Given the description of an element on the screen output the (x, y) to click on. 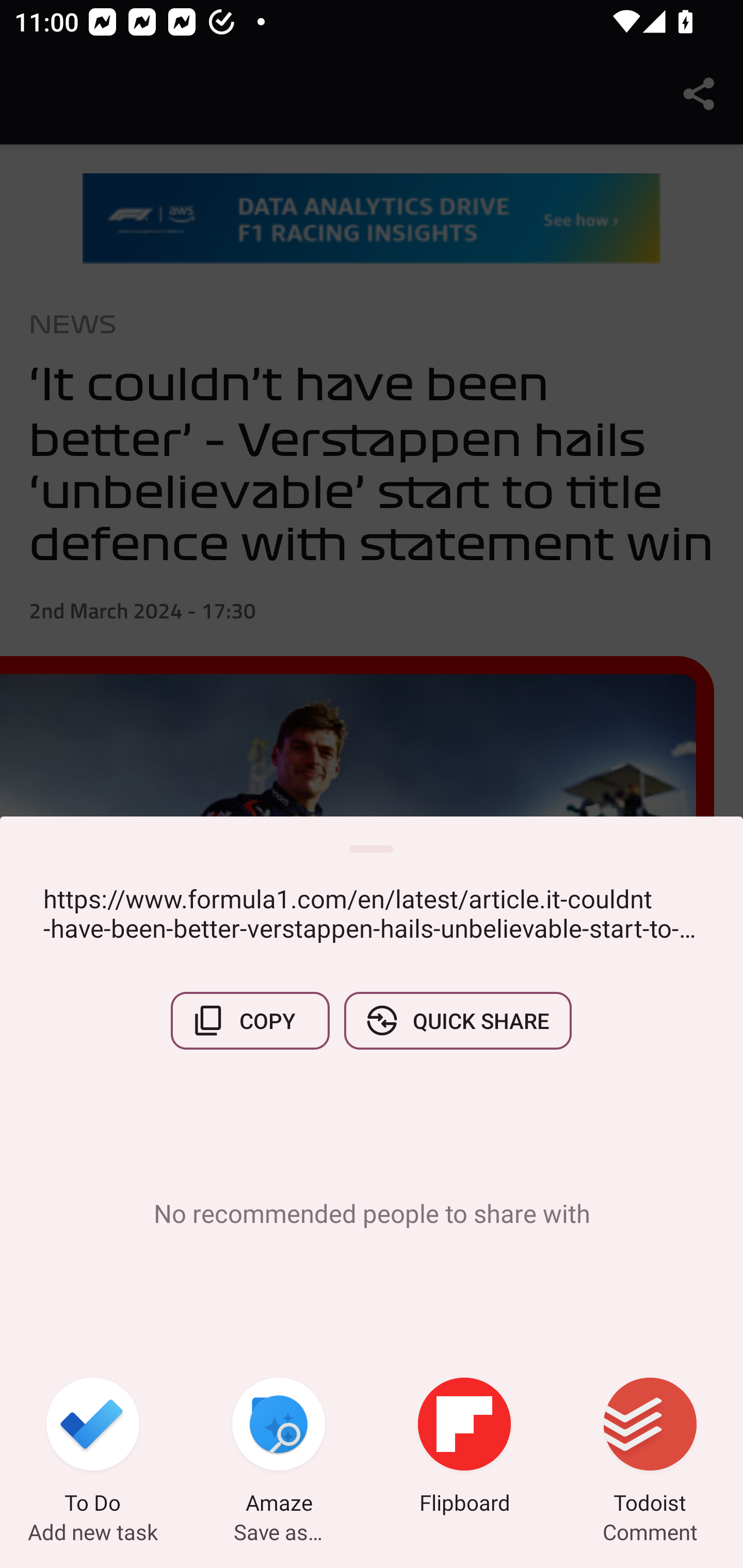
COPY (249, 1020)
QUICK SHARE (457, 1020)
To Do Add new task (92, 1448)
Amaze Save as… (278, 1448)
Flipboard (464, 1448)
Todoist Comment (650, 1448)
